Given the description of an element on the screen output the (x, y) to click on. 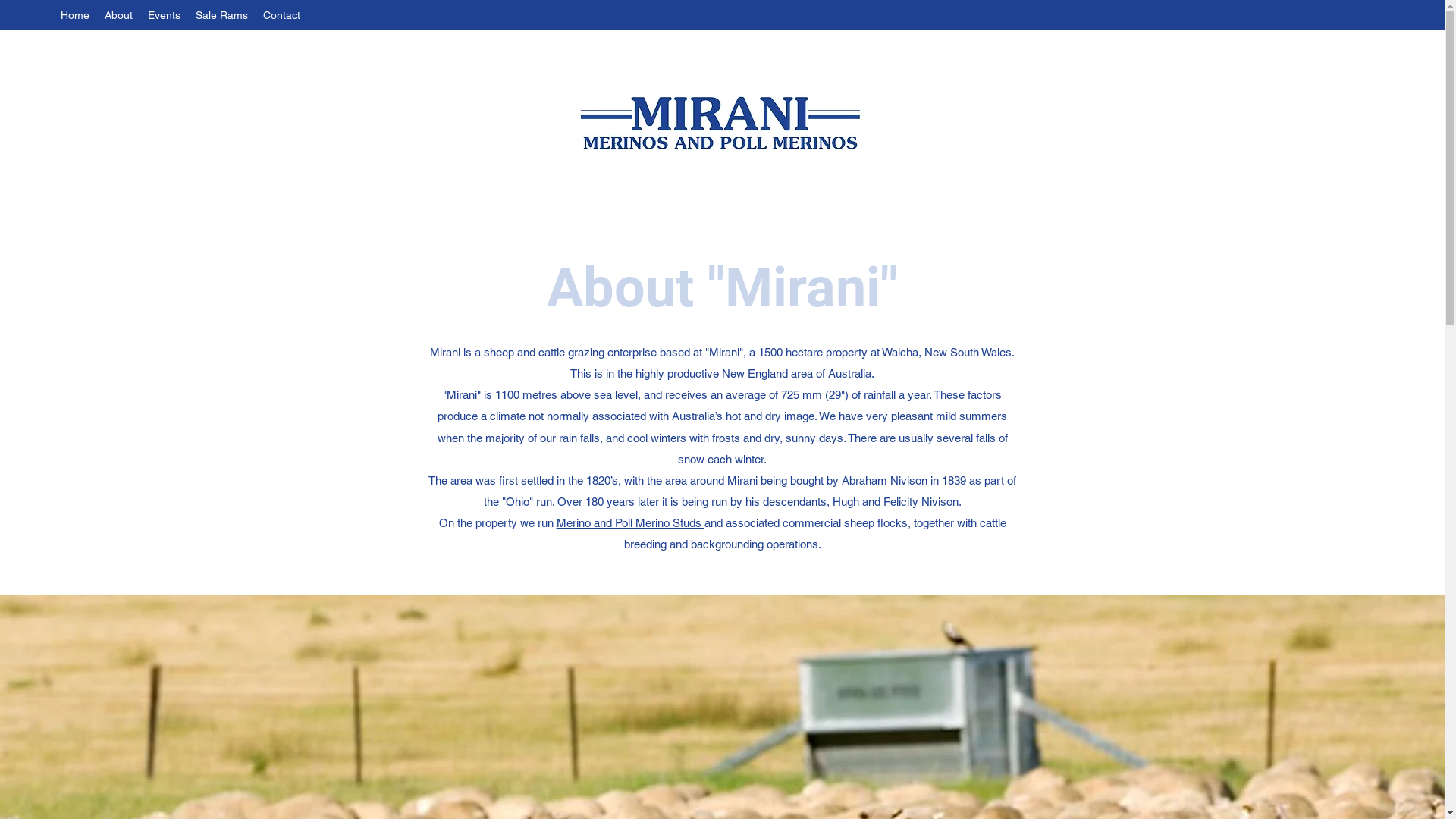
Home Element type: text (75, 14)
Merino and Poll Merino Studs Element type: text (630, 522)
About Element type: text (118, 14)
Sale Rams Element type: text (221, 14)
Contact Element type: text (281, 14)
Events Element type: text (164, 14)
